Given the description of an element on the screen output the (x, y) to click on. 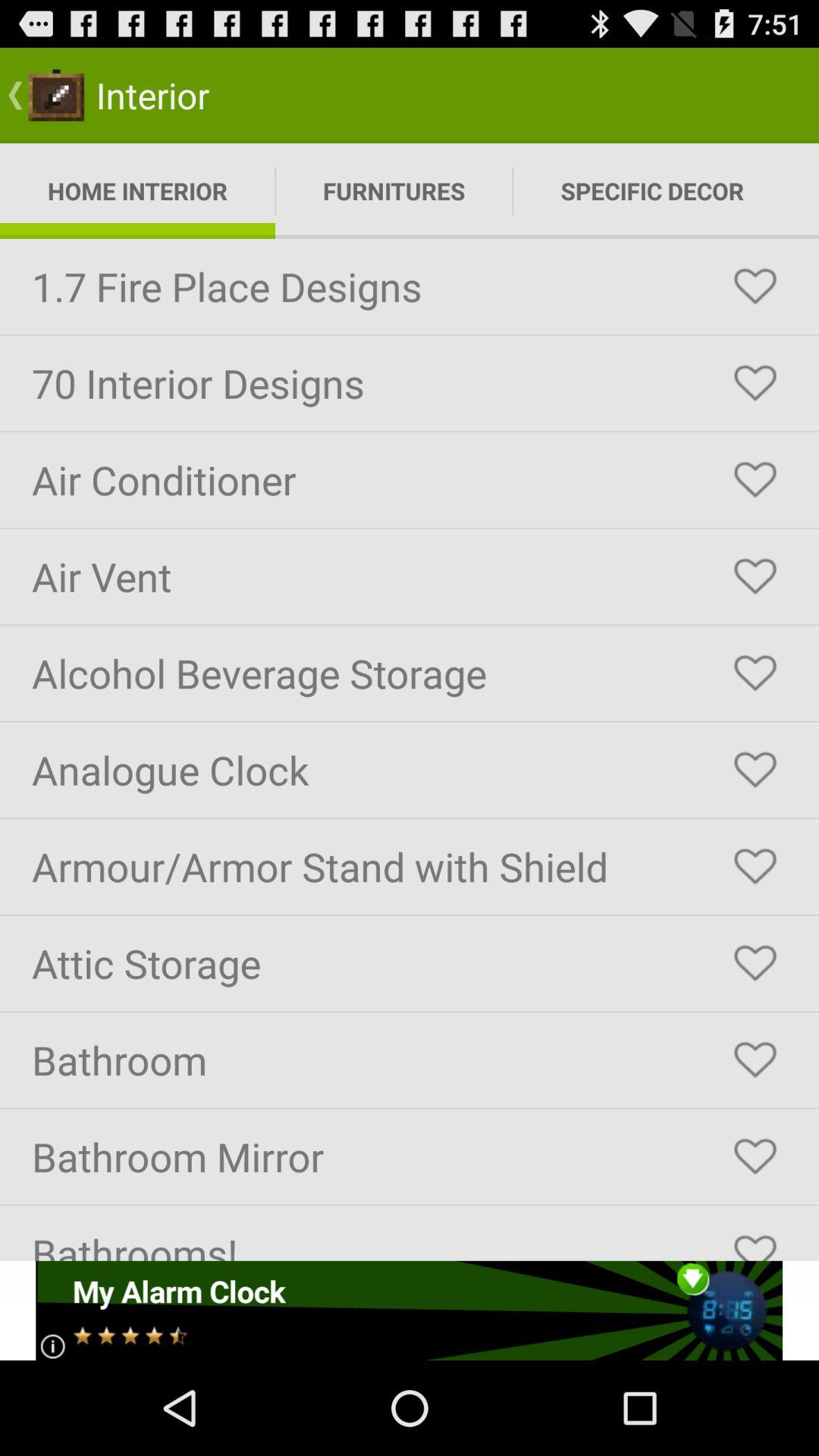
click to select alcohol beverage storage (755, 673)
